Given the description of an element on the screen output the (x, y) to click on. 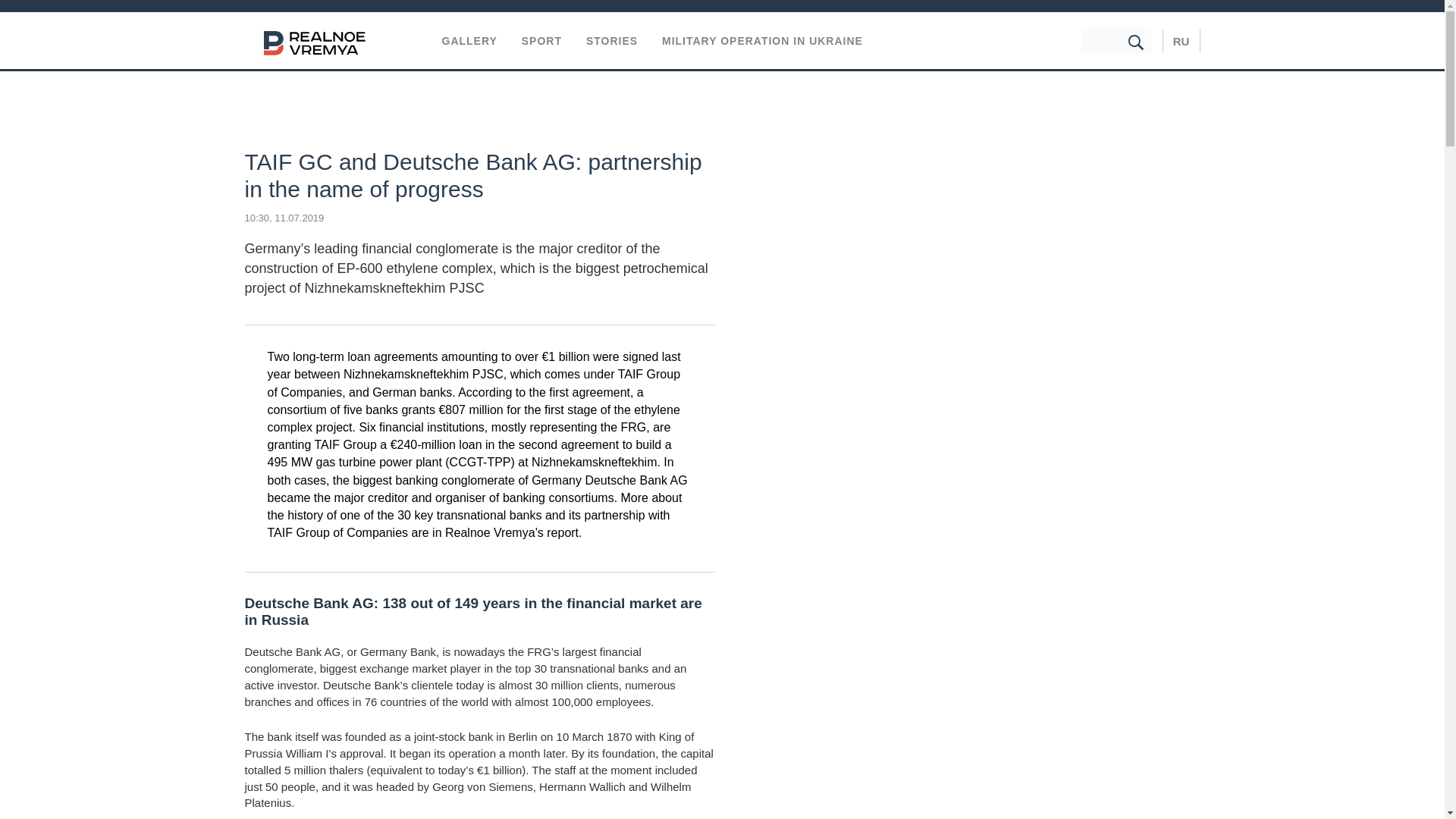
GALLERY (468, 40)
10:30, 11.07.2019 (283, 217)
MILITARY OPERATION IN UKRAINE (762, 40)
SPORT (541, 40)
RU (1181, 41)
STORIES (611, 40)
